Given the description of an element on the screen output the (x, y) to click on. 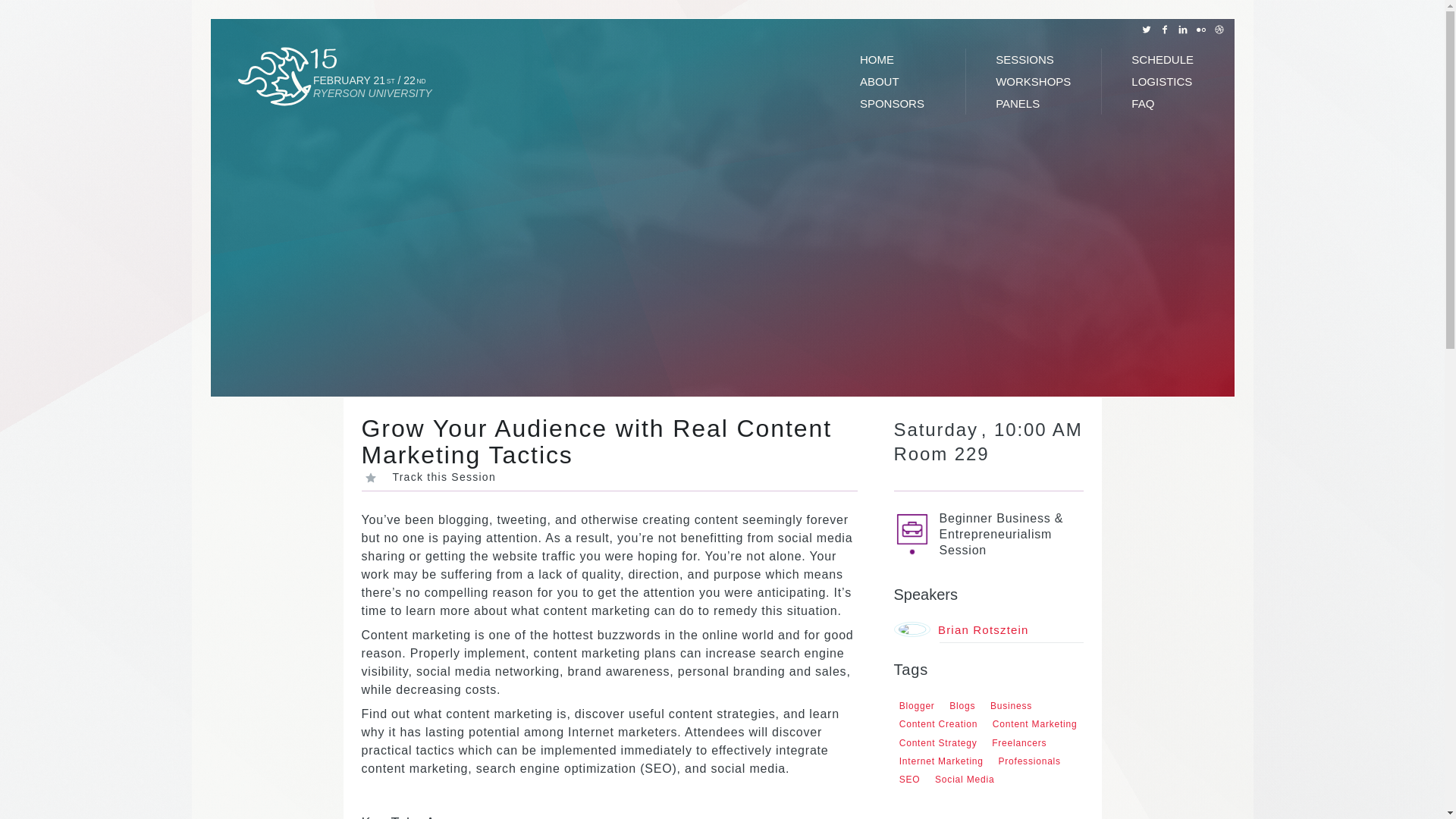
SPONSORS (897, 103)
PANELS (1032, 103)
SCHEDULE (1169, 59)
WORKSHOPS (1032, 81)
SESSIONS (1032, 59)
Brian Rotsztein (988, 629)
ABOUT (897, 81)
HOME (897, 59)
FAQ (1169, 103)
LOGISTICS (1169, 81)
